Given the description of an element on the screen output the (x, y) to click on. 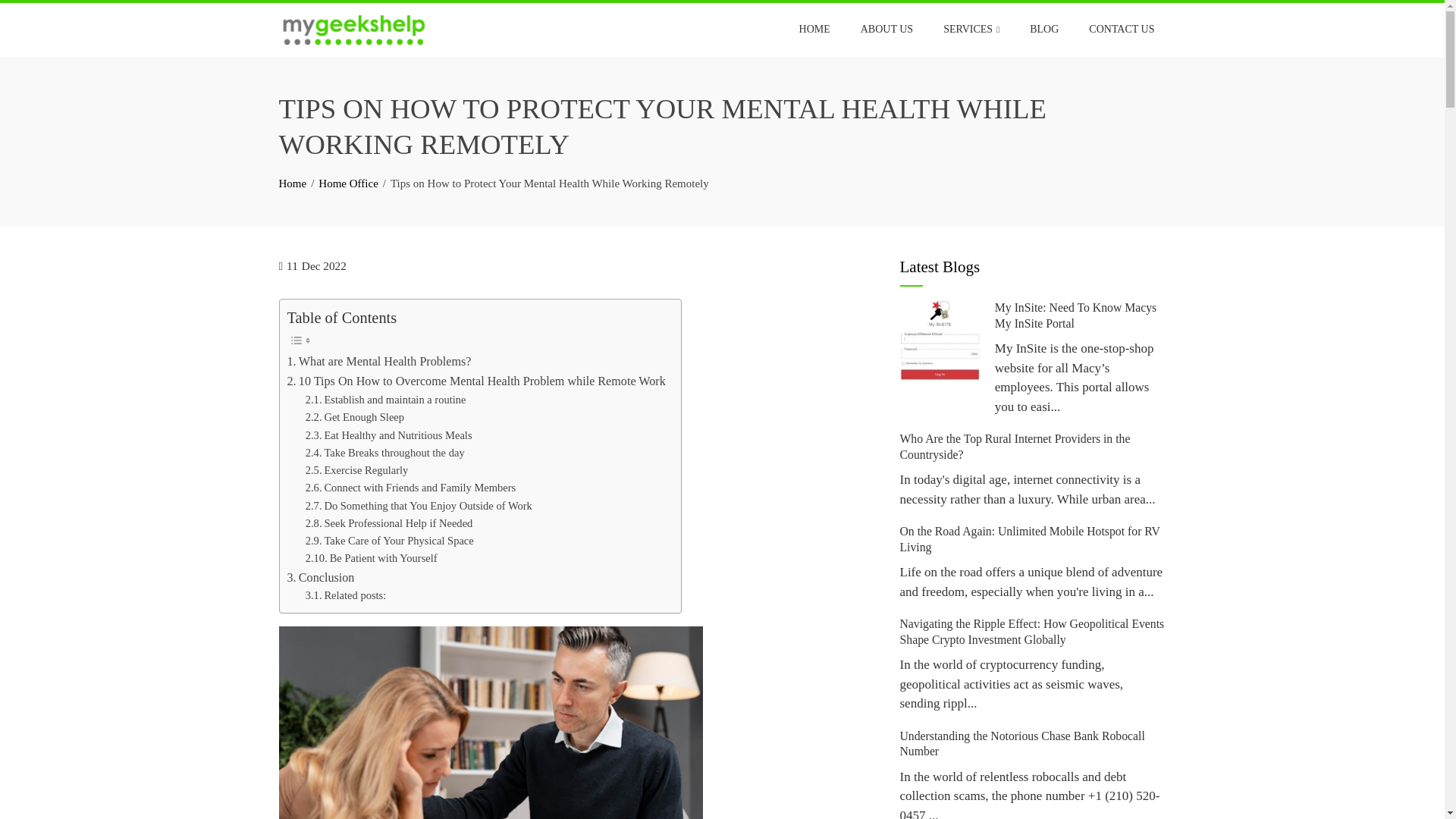
Get Enough Sleep (354, 416)
BLOG (1043, 29)
Related posts: (346, 595)
Establish and maintain a routine (385, 399)
Be Patient with Yourself (371, 558)
Take Breaks throughout the day (384, 452)
Eat Healthy and Nutritious Meals (388, 435)
Home Office (347, 183)
Home (293, 183)
What are Mental Health Problems? (378, 361)
